Given the description of an element on the screen output the (x, y) to click on. 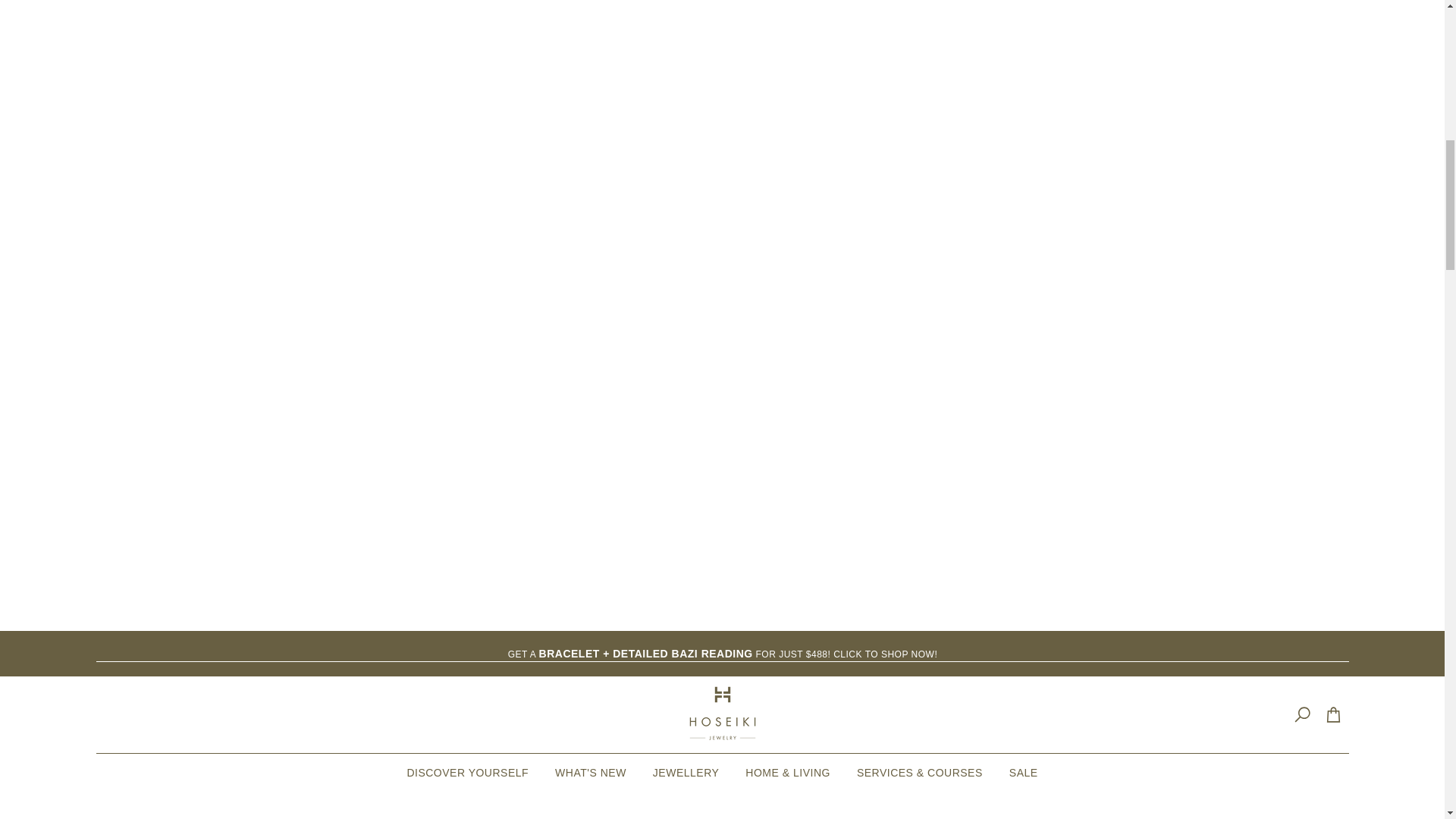
CLICK TO SHOP NOW (883, 654)
Bazi Reading and Bracelet Bundle Set (883, 654)
DISCOVER YOURSELF (467, 772)
JEWELLERY (685, 772)
WHAT'S NEW (590, 772)
SALE (1023, 772)
